Given the description of an element on the screen output the (x, y) to click on. 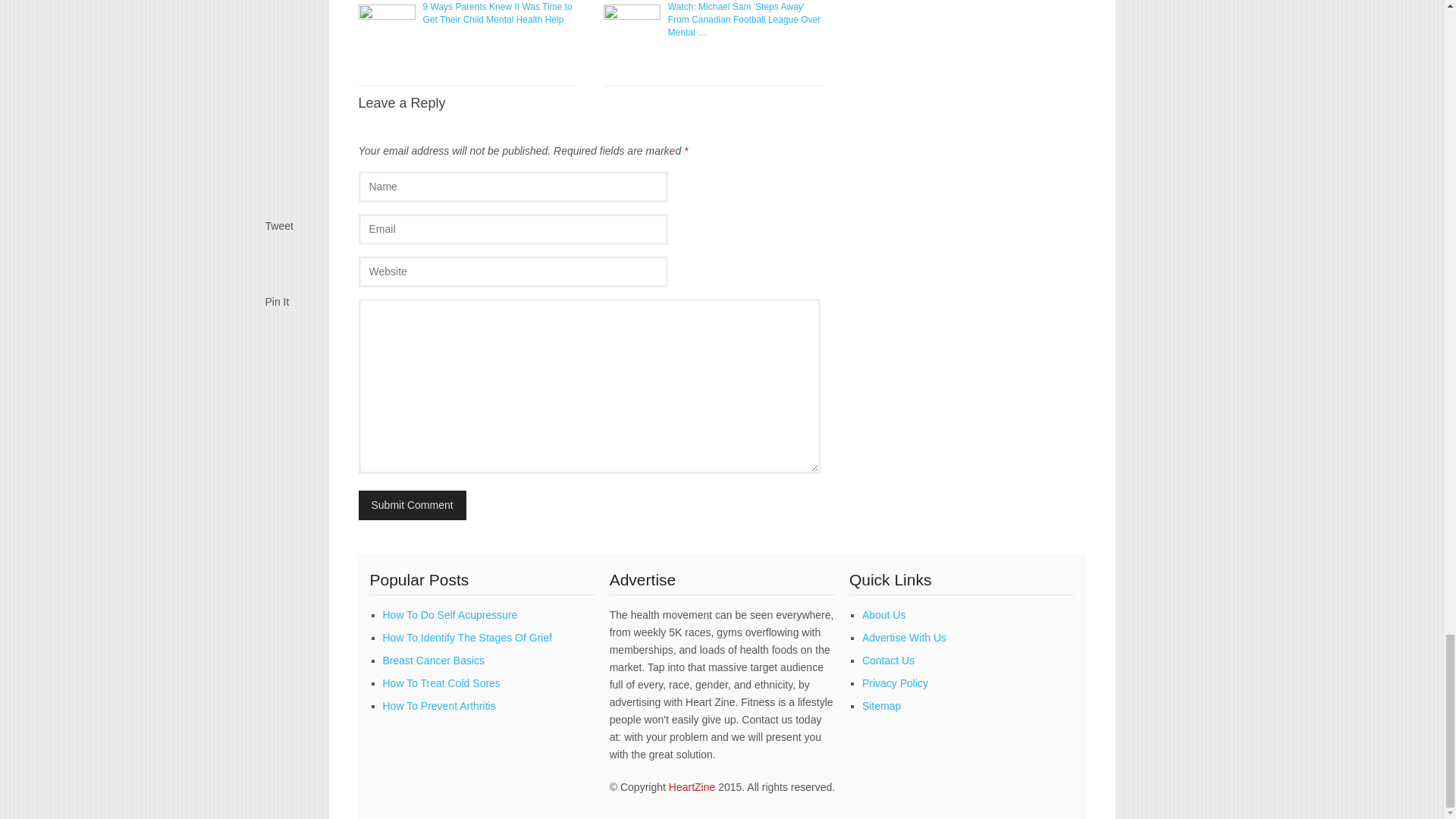
Submit Comment (411, 505)
Submit Comment (411, 505)
